Given the description of an element on the screen output the (x, y) to click on. 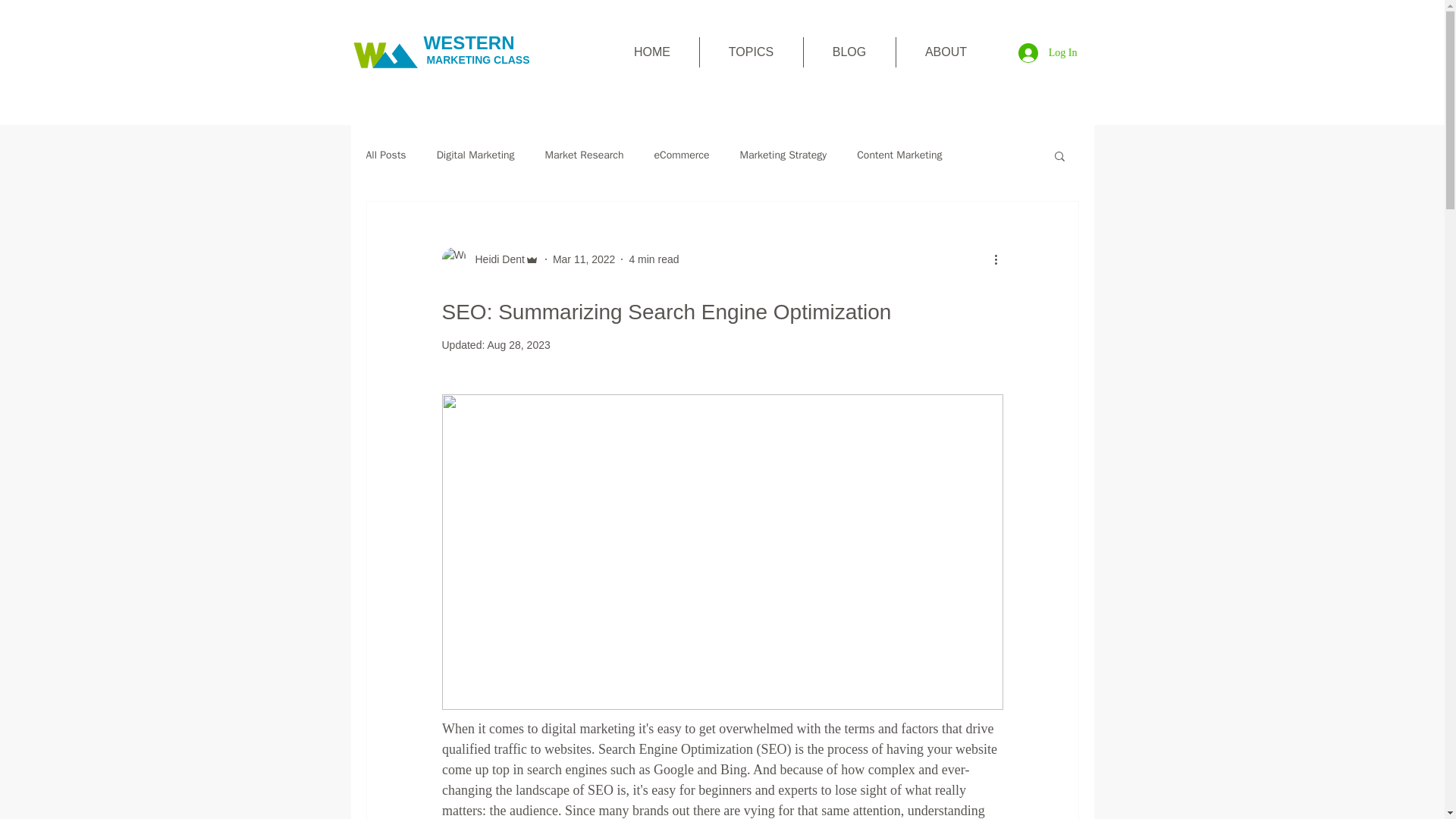
Mar 11, 2022 (584, 259)
Market Research (584, 155)
Heidi Dent (494, 259)
All Posts (385, 155)
Content Marketing (899, 155)
TOPICS (750, 51)
Aug 28, 2023 (518, 345)
ABOUT (945, 51)
Marketing Strategy (783, 155)
eCommerce (681, 155)
